Given the description of an element on the screen output the (x, y) to click on. 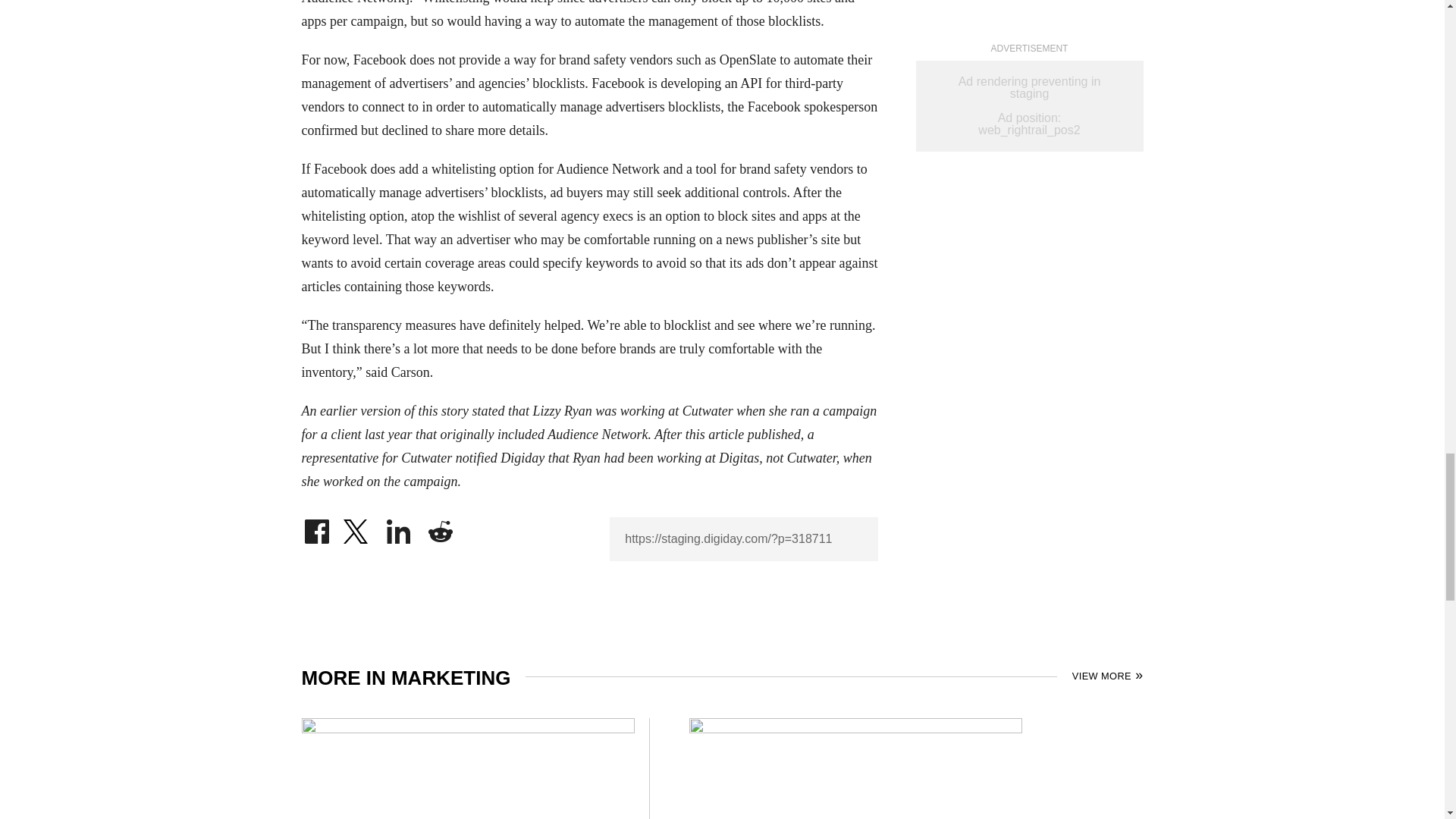
Share on Reddit (440, 527)
Share on Facebook (316, 527)
Share on LinkedIn (398, 527)
Share on Twitter (357, 527)
